Given the description of an element on the screen output the (x, y) to click on. 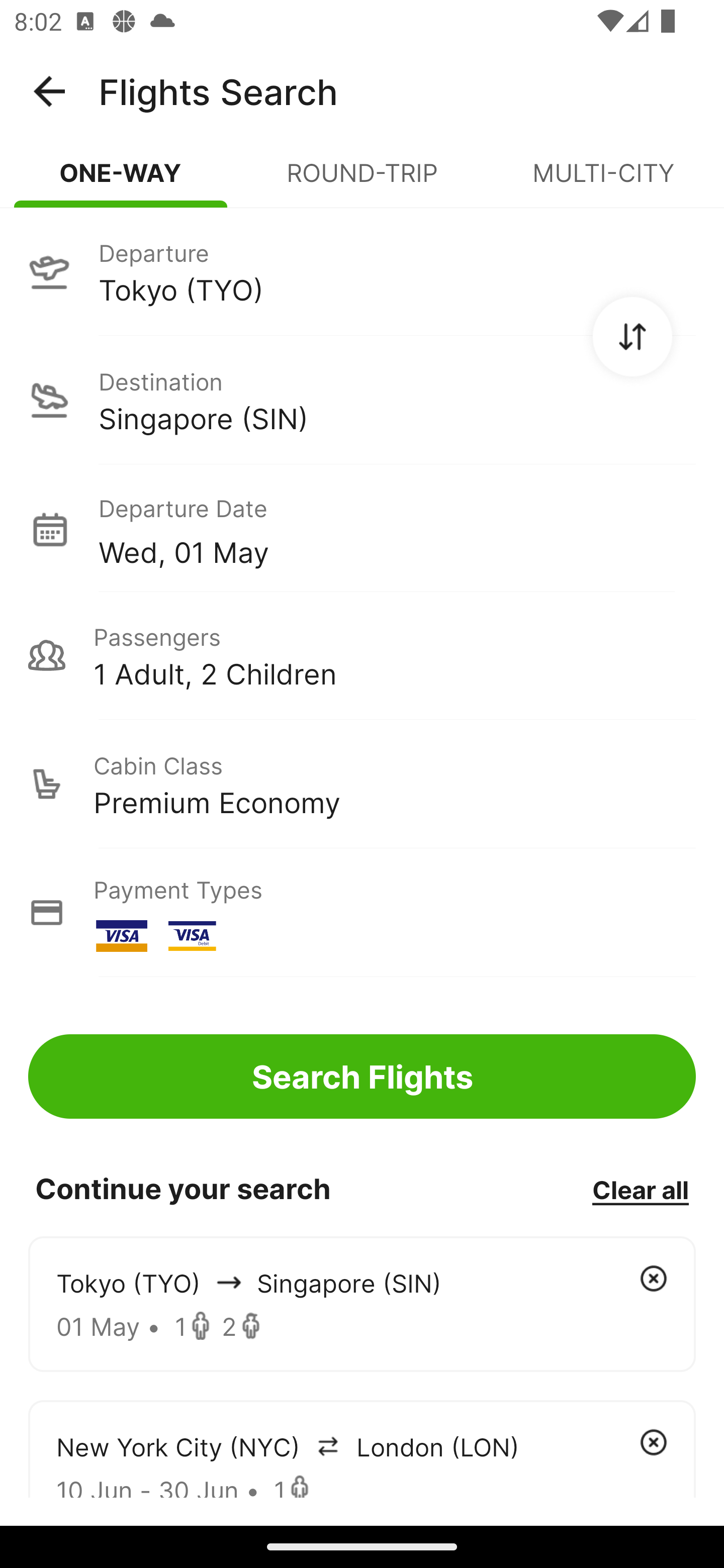
ONE-WAY (120, 180)
ROUND-TRIP (361, 180)
MULTI-CITY (603, 180)
Departure Tokyo (TYO) (362, 270)
Destination Singapore (SIN) (362, 400)
Departure Date Wed, 01 May (396, 528)
Passengers 1 Adult, 2 Children (362, 655)
Cabin Class Premium Economy (362, 783)
Payment Types (362, 912)
Search Flights (361, 1075)
Clear all (640, 1189)
